Given the description of an element on the screen output the (x, y) to click on. 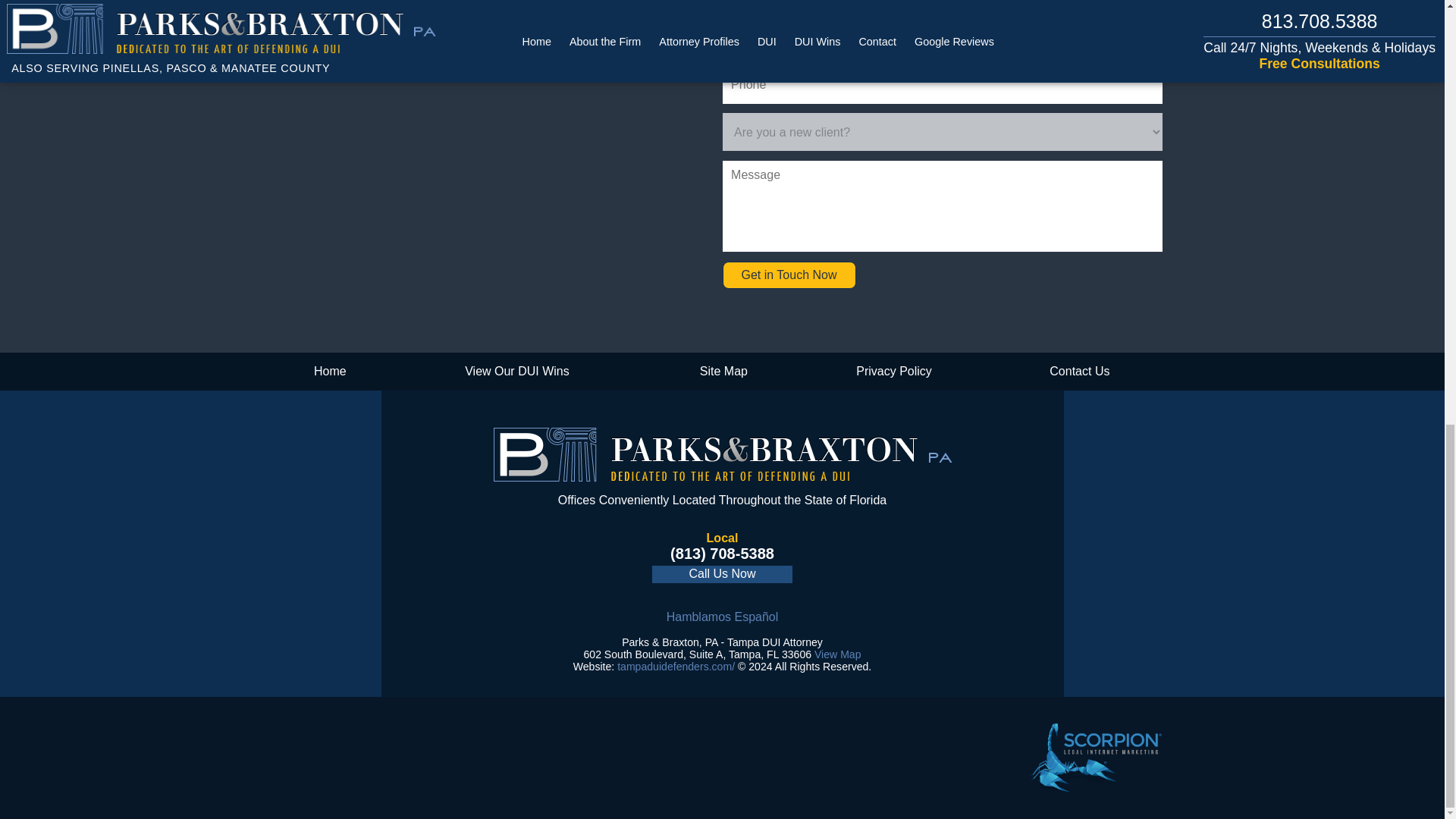
Privacy Policy (894, 371)
View Our DUI Wins (516, 371)
Contact Us (1079, 371)
Home (329, 371)
Get in Touch Now (789, 275)
Site Map (723, 371)
Internet Marketing Experts (1095, 757)
View Map (837, 654)
